Given the description of an element on the screen output the (x, y) to click on. 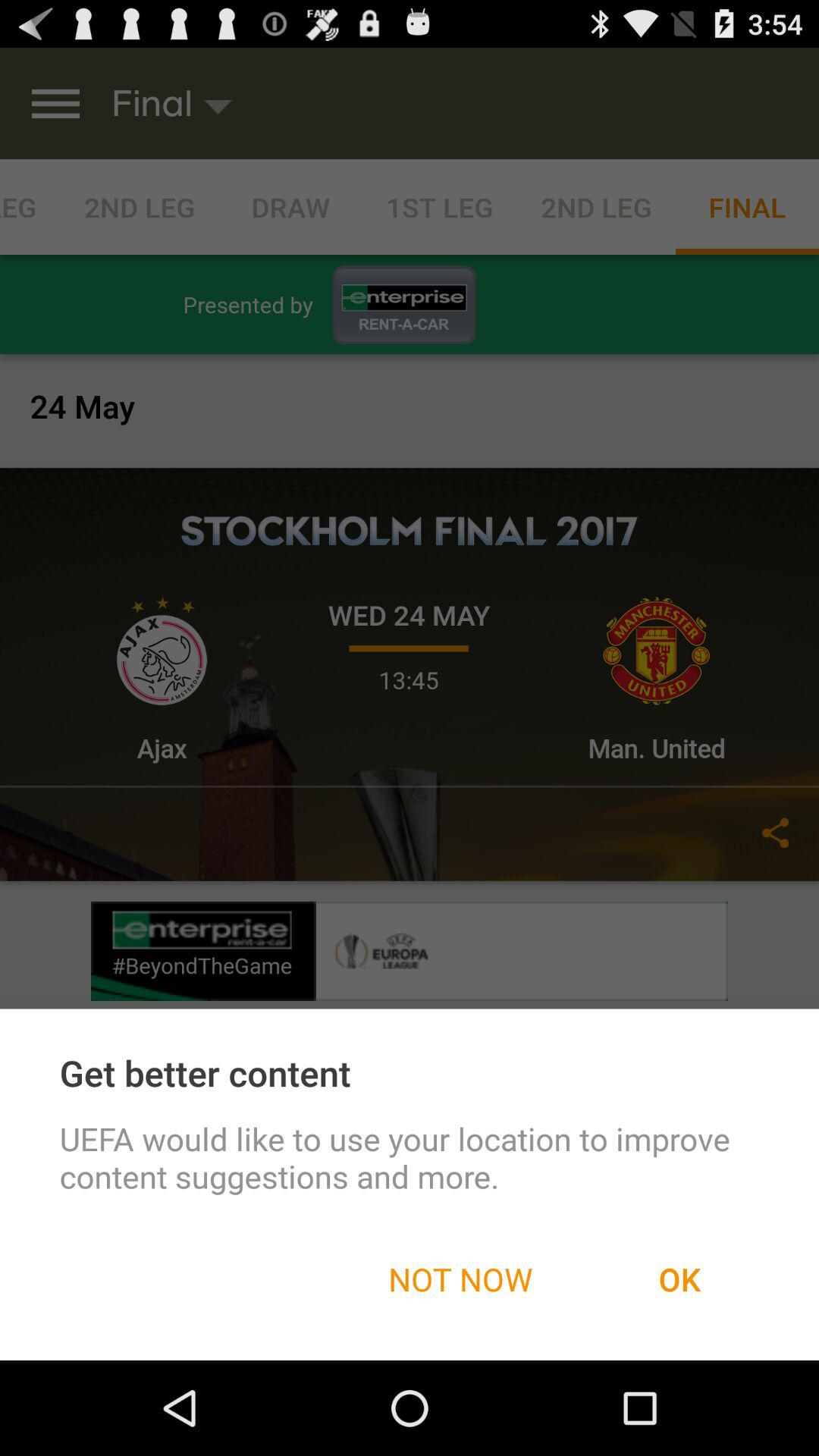
select the item below uefa would like (460, 1278)
